Given the description of an element on the screen output the (x, y) to click on. 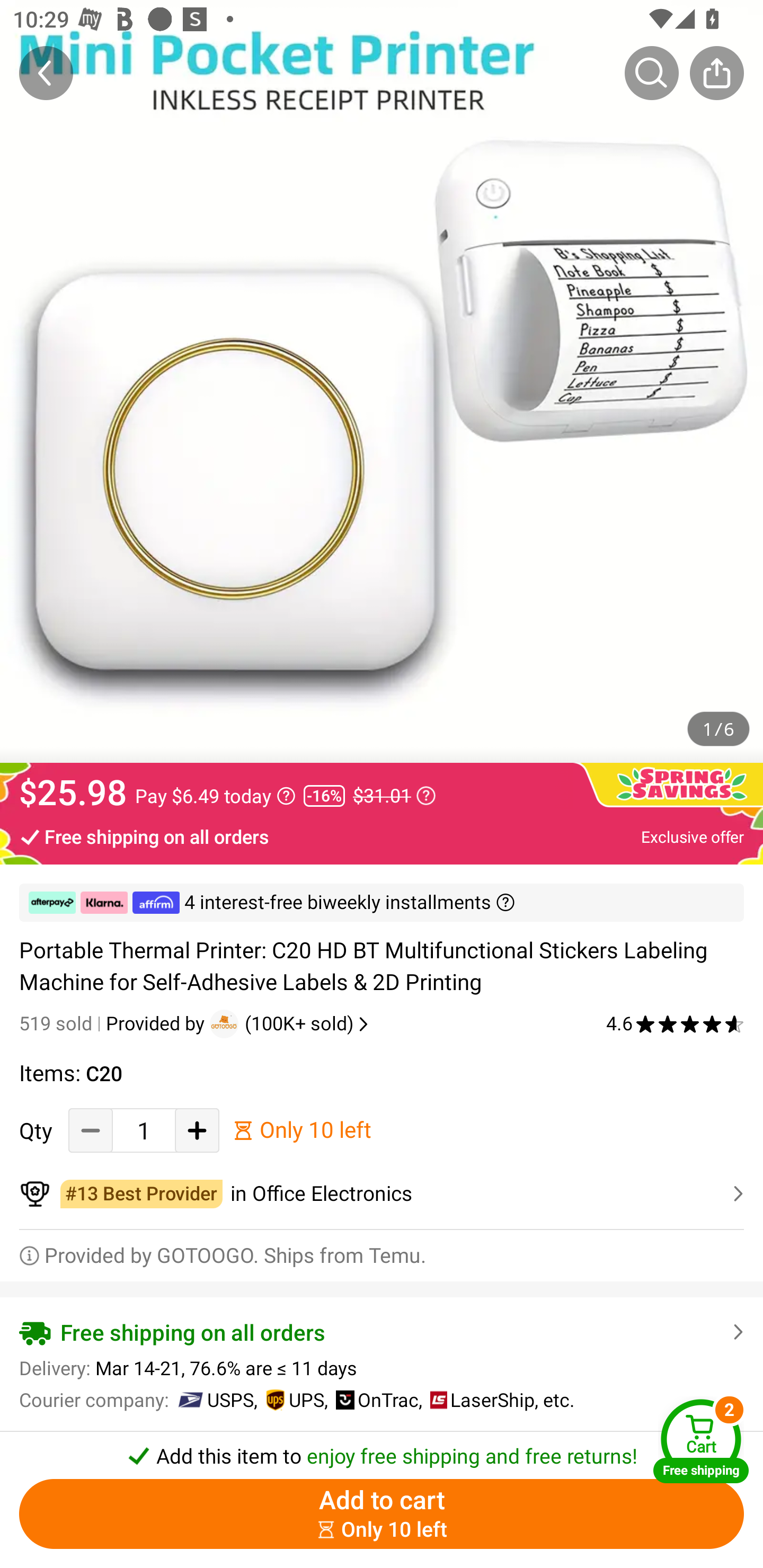
Back (46, 72)
Share (716, 72)
Pay $6.49 today   (215, 795)
Free shipping on all orders Exclusive offer (381, 836)
￼ ￼ ￼ 4 interest-free biweekly installments ￼ (381, 902)
519 sold Provided by  (114, 1023)
4.6 (674, 1023)
Decrease Quantity Button (90, 1130)
1 (143, 1130)
Add Quantity button (196, 1130)
￼￼in Office Electronics (381, 1193)
Cart Free shipping Cart (701, 1440)
Add to cart ￼￼Only 10 left (381, 1513)
